Given the description of an element on the screen output the (x, y) to click on. 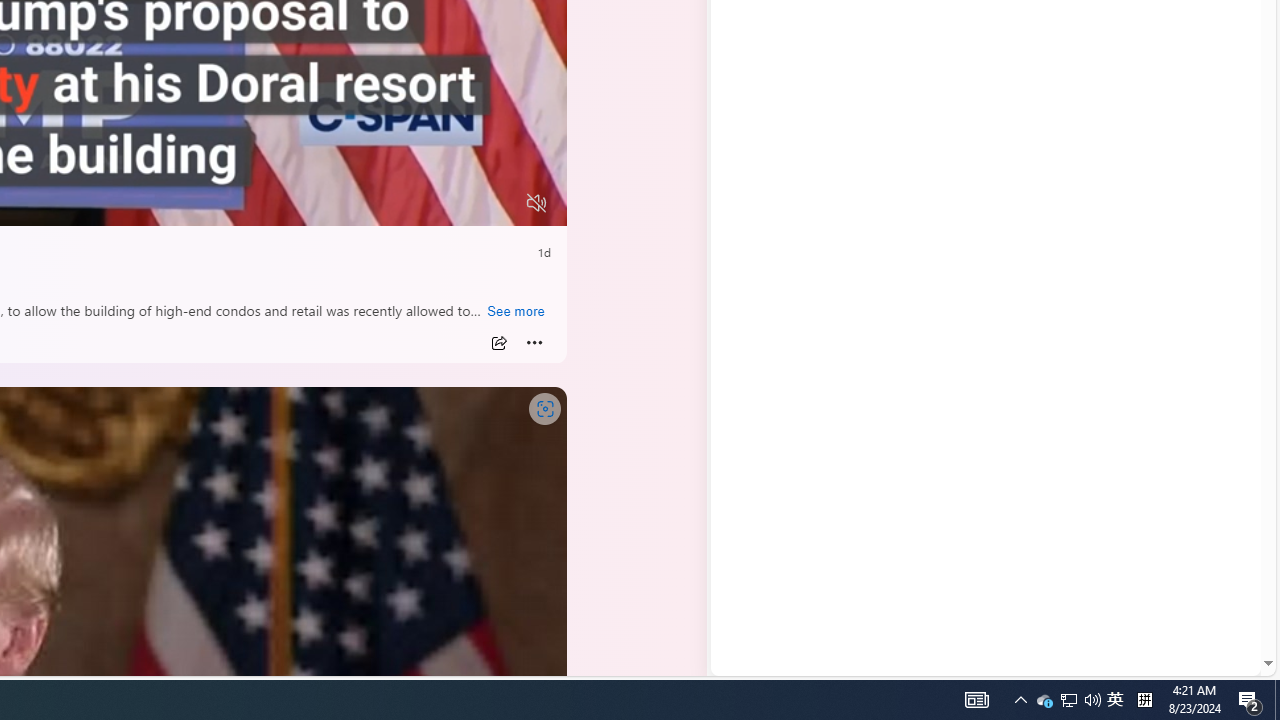
More (534, 343)
Fullscreen (497, 203)
Quality Settings (418, 203)
Class: at-item inline-watch (534, 343)
Captions (457, 203)
Unmute (535, 203)
